Given the description of an element on the screen output the (x, y) to click on. 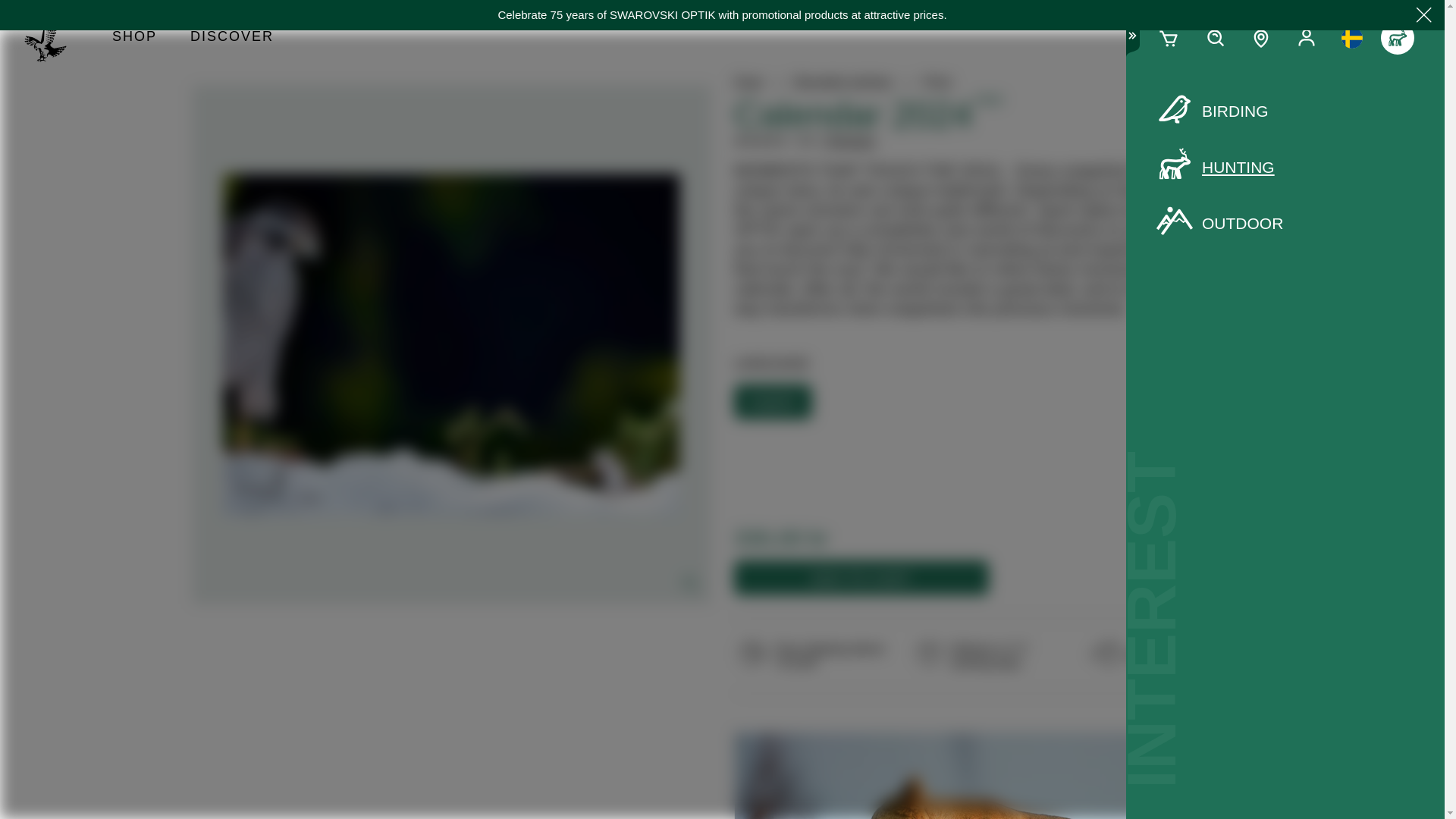
INTEREST (1397, 37)
OUTDOOR (1284, 223)
Swarovski Optik (51, 38)
Shop (134, 37)
SHOP (134, 37)
DISCOVER (231, 37)
ACCOUNT (1306, 37)
COUNTRY (1351, 37)
SEARCH (1215, 37)
Discover (231, 37)
CART (1169, 37)
HUNTING (1284, 167)
DEALER LOCATOR (1261, 37)
BIRDING (1284, 110)
